Given the description of an element on the screen output the (x, y) to click on. 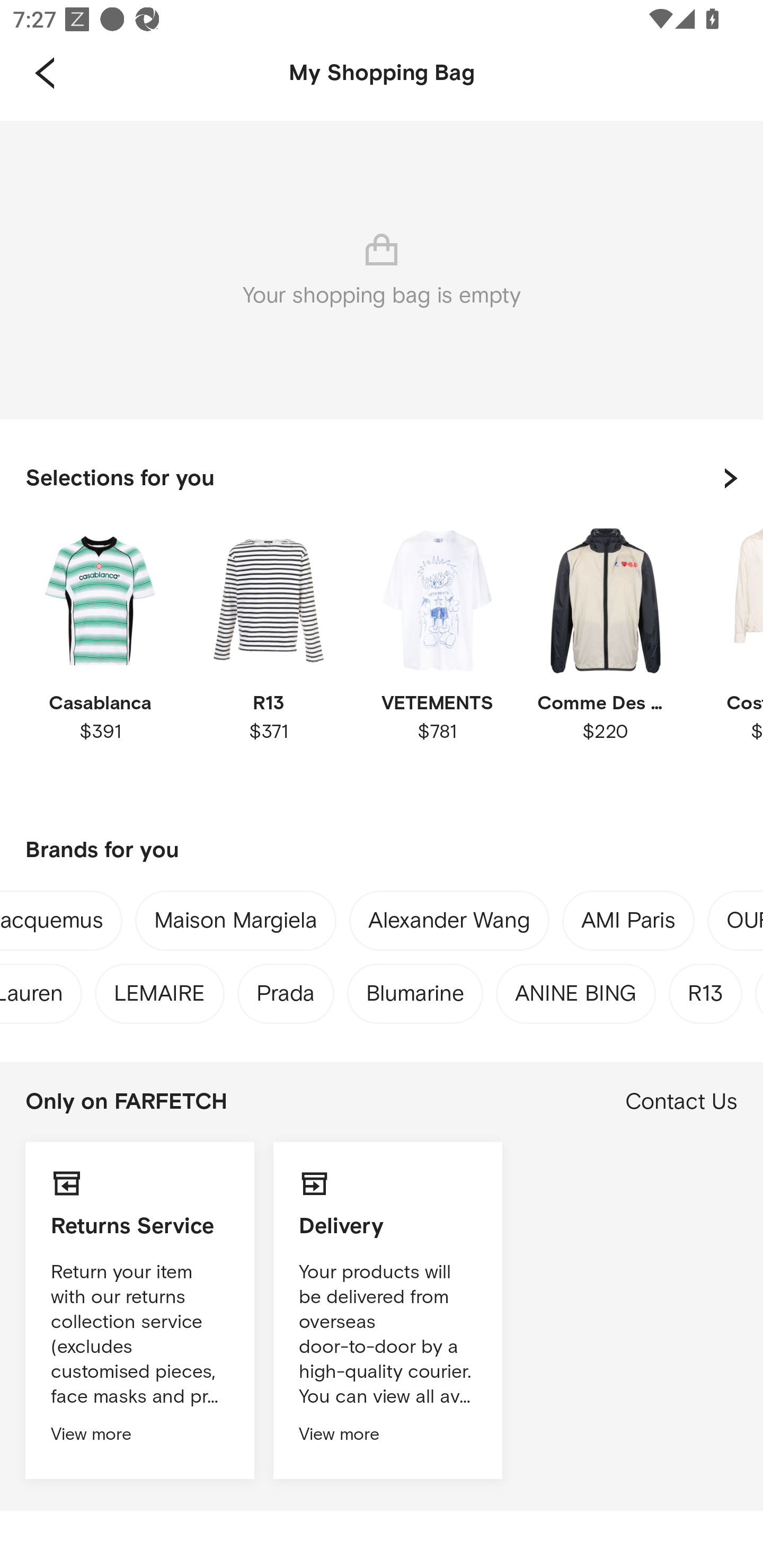
Selections for you (381, 477)
Casablanca $391 (100, 660)
R13 $371 (268, 660)
VETEMENTS $781 (436, 660)
Comme Des Garçons Play $220 (605, 660)
Brands for you (381, 850)
Jacquemus (51, 924)
Maison Margiela (235, 924)
Alexander Wang (449, 924)
AMI Paris (628, 924)
LEMAIRE (159, 988)
Prada (285, 988)
Blumarine (414, 988)
ANINE BING (576, 988)
R13 (705, 988)
Contact Us (680, 1101)
